Given the description of an element on the screen output the (x, y) to click on. 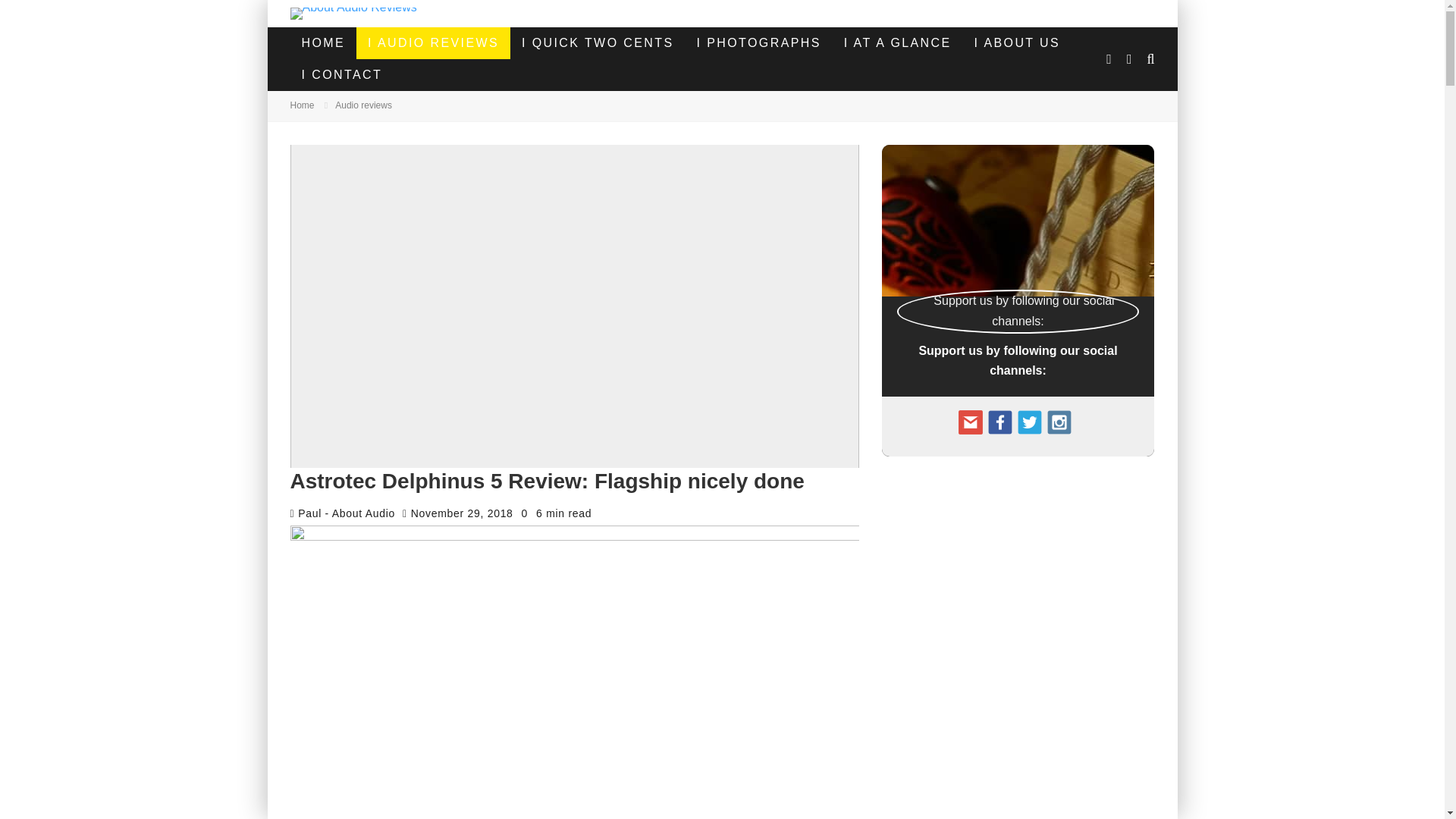
HOME (322, 42)
I AUDIO REVIEWS (433, 42)
I QUICK TWO CENTS (598, 42)
I CONTACT (341, 74)
I AT A GLANCE (897, 42)
I ABOUT US (1016, 42)
I PHOTOGRAPHS (758, 42)
